Given the description of an element on the screen output the (x, y) to click on. 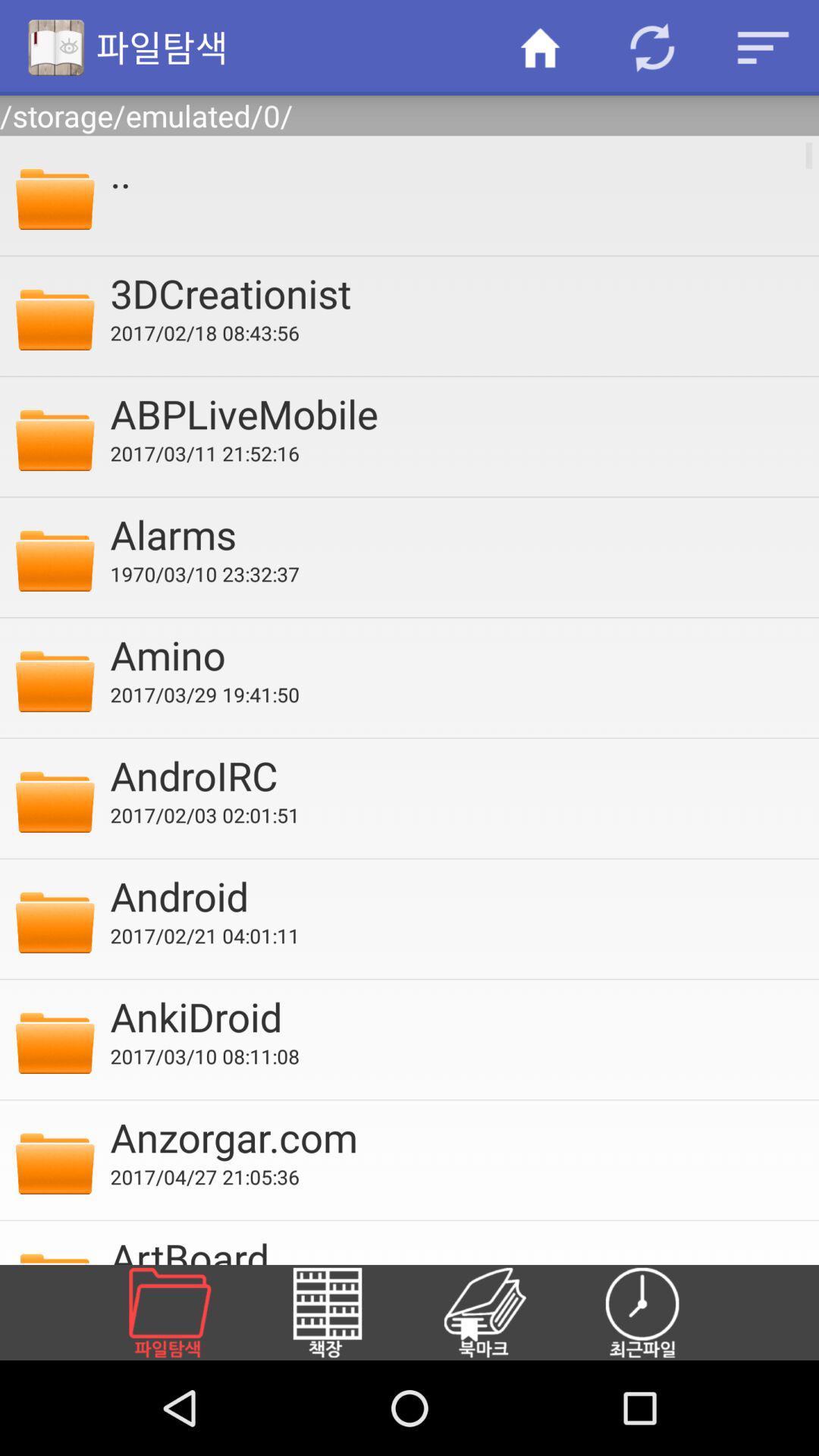
choose app below artboard item (187, 1312)
